Given the description of an element on the screen output the (x, y) to click on. 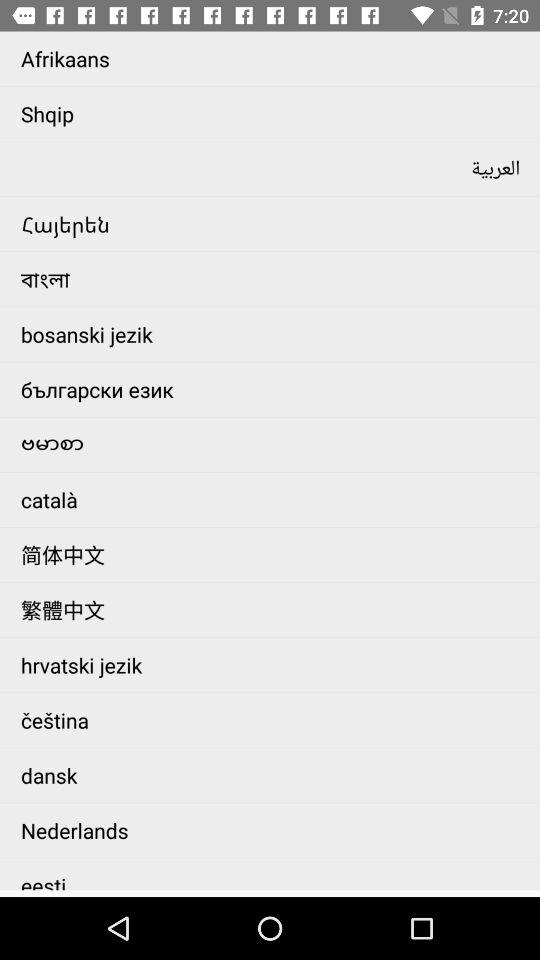
tap app below nederlands app (275, 874)
